Given the description of an element on the screen output the (x, y) to click on. 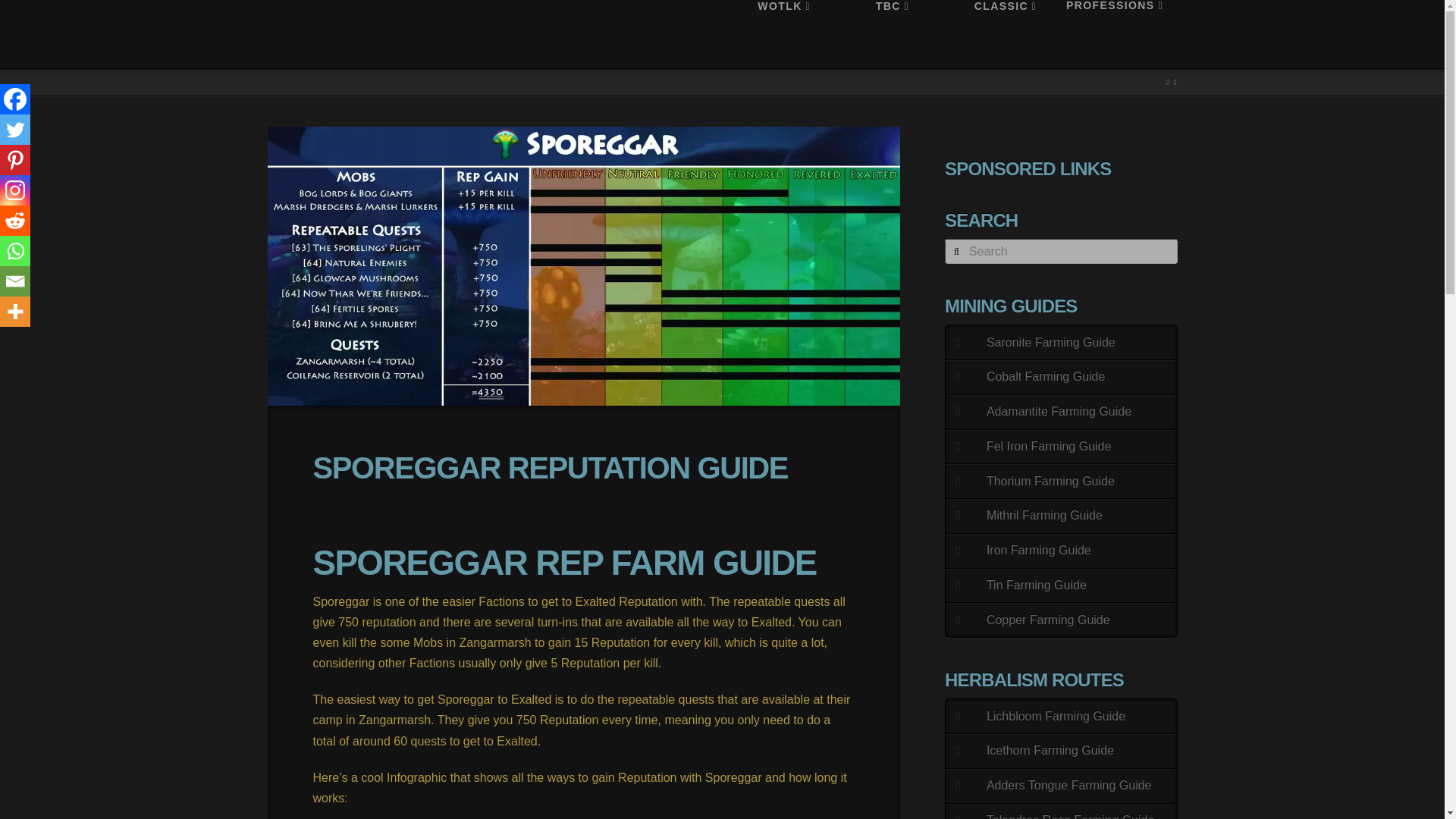
Instagram (15, 190)
PROFESSIONS (1114, 33)
Twitter (15, 129)
Email (15, 281)
TBC (874, 33)
More (15, 311)
Reddit (15, 220)
WOTLK (765, 33)
Facebook (15, 99)
Pinterest (15, 159)
